Given the description of an element on the screen output the (x, y) to click on. 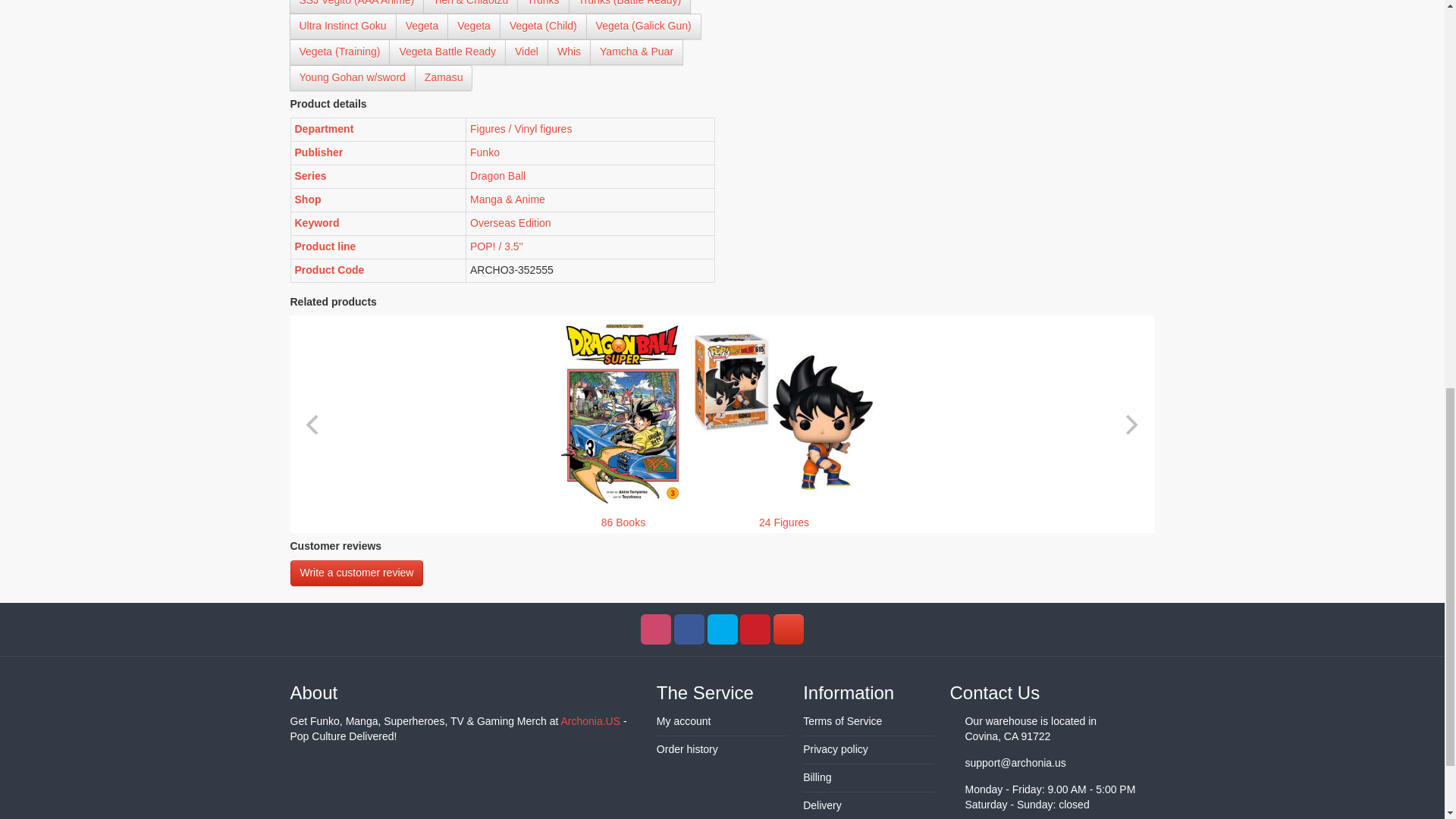
Instagram (655, 629)
Pinterest (754, 629)
Twitter (721, 629)
Facebook (689, 629)
Support (788, 629)
Dragon Ball Z POP! Vinyl Figure - Goku Battle Ready (783, 411)
